Given the description of an element on the screen output the (x, y) to click on. 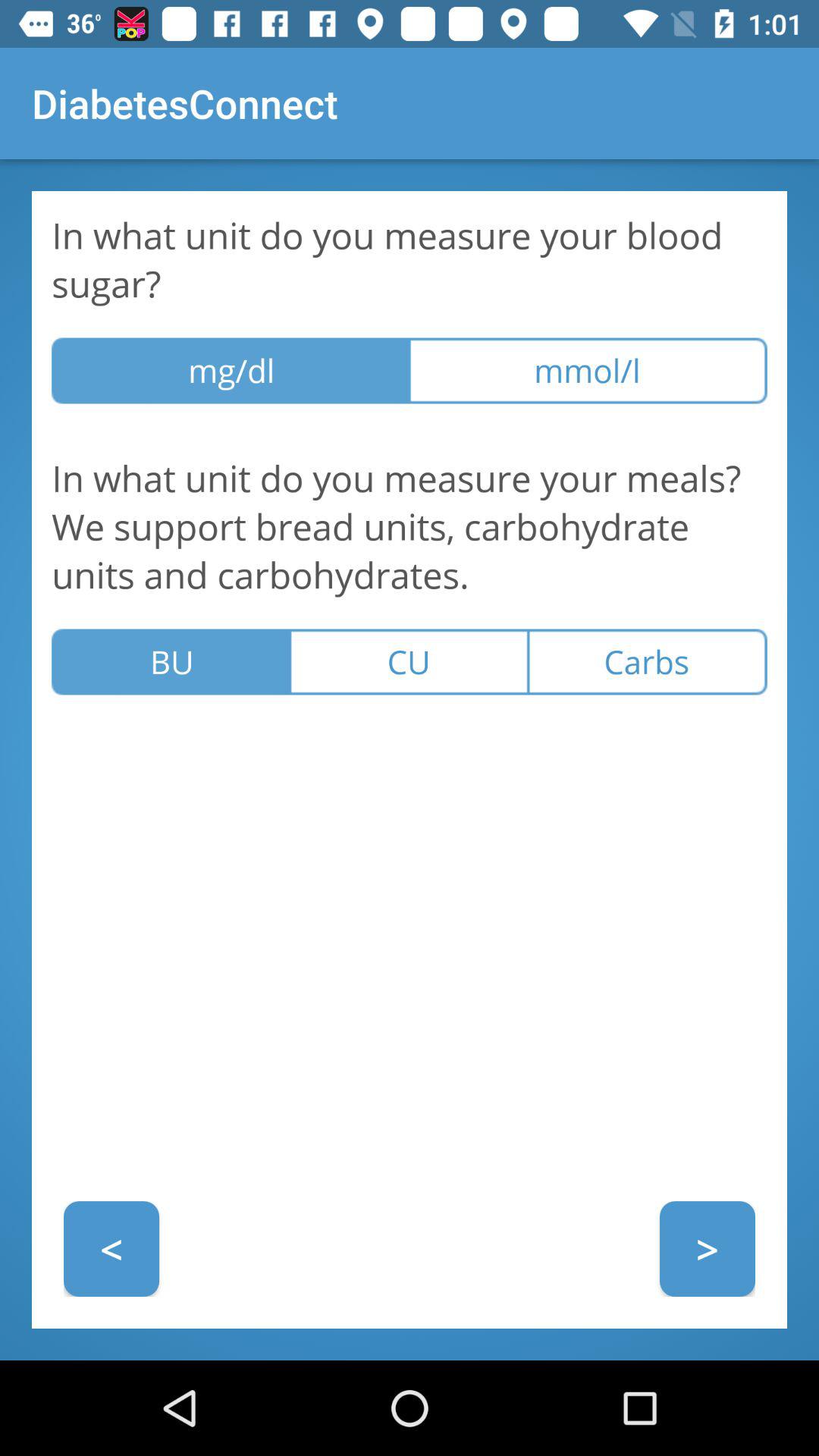
turn on icon at the top right corner (588, 370)
